Given the description of an element on the screen output the (x, y) to click on. 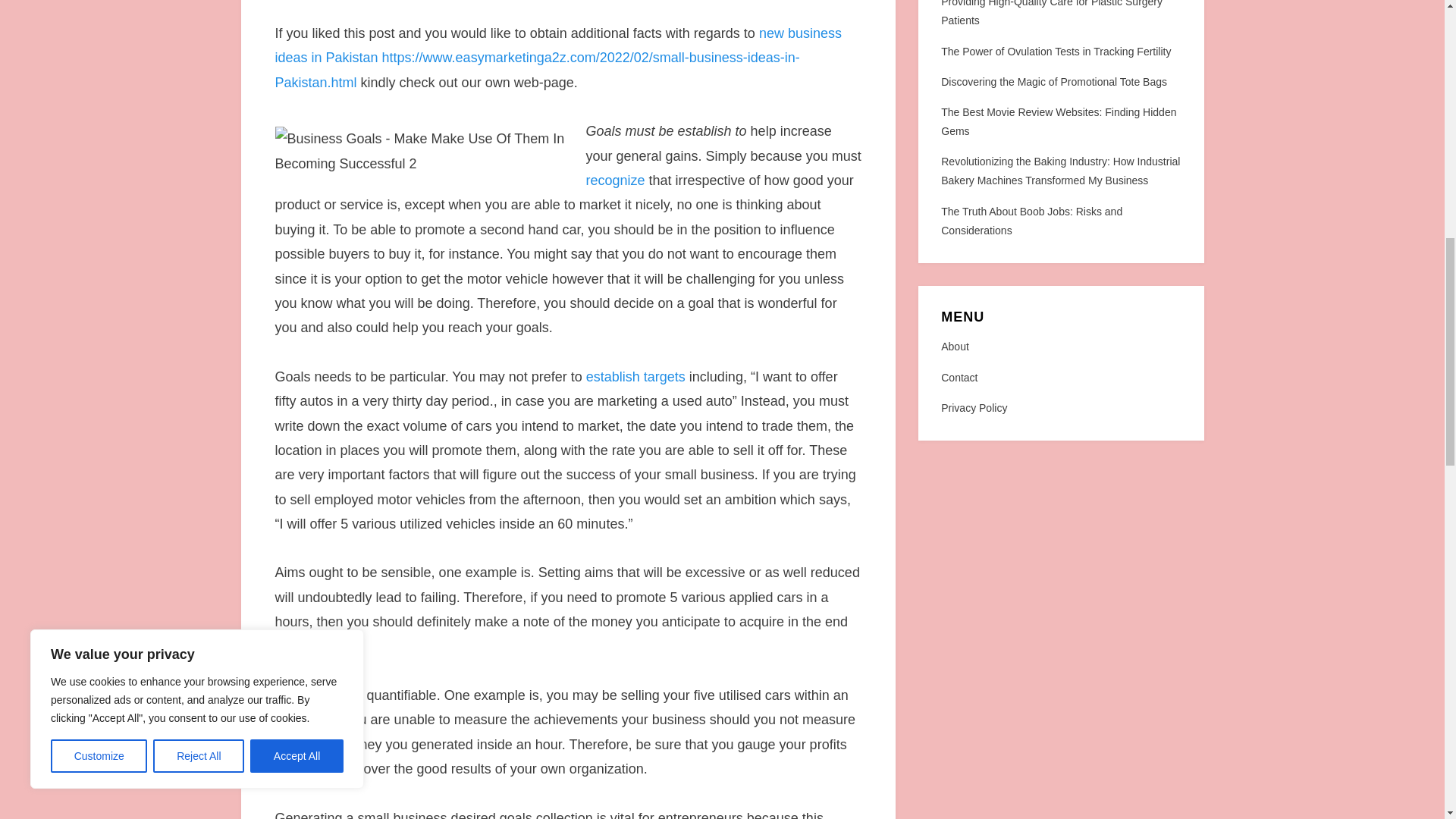
recognize (615, 180)
establish targets (635, 376)
